Given the description of an element on the screen output the (x, y) to click on. 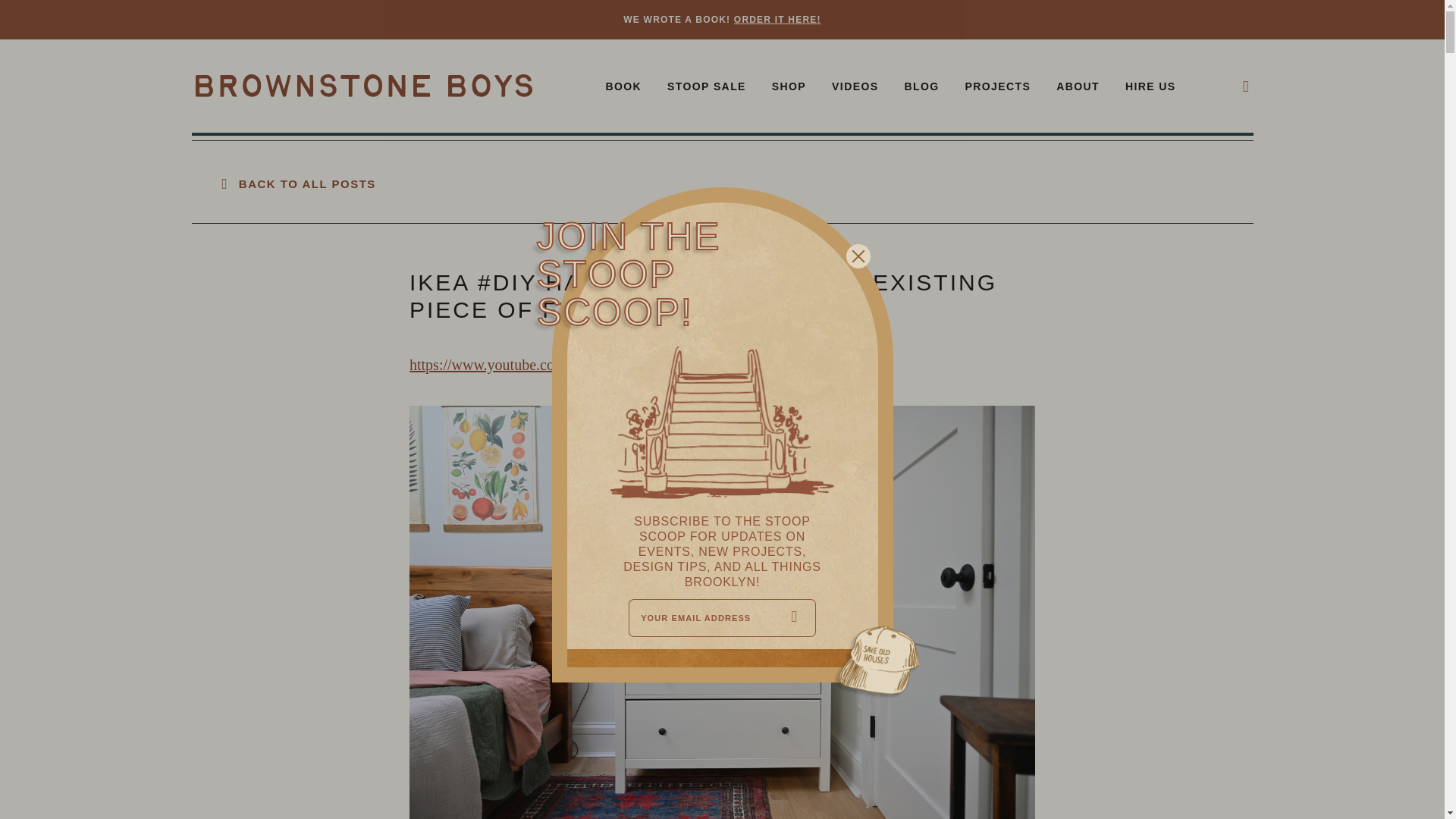
ORDER IT HERE! (777, 19)
BOOK (623, 87)
BLOG (921, 87)
VIDEOS (854, 87)
HIRE US (1150, 87)
ABOUT (1078, 87)
STOOP SALE (705, 87)
SHOP (788, 87)
BACK TO ALL POSTS (298, 183)
logo (363, 85)
PROJECTS (996, 87)
